Given the description of an element on the screen output the (x, y) to click on. 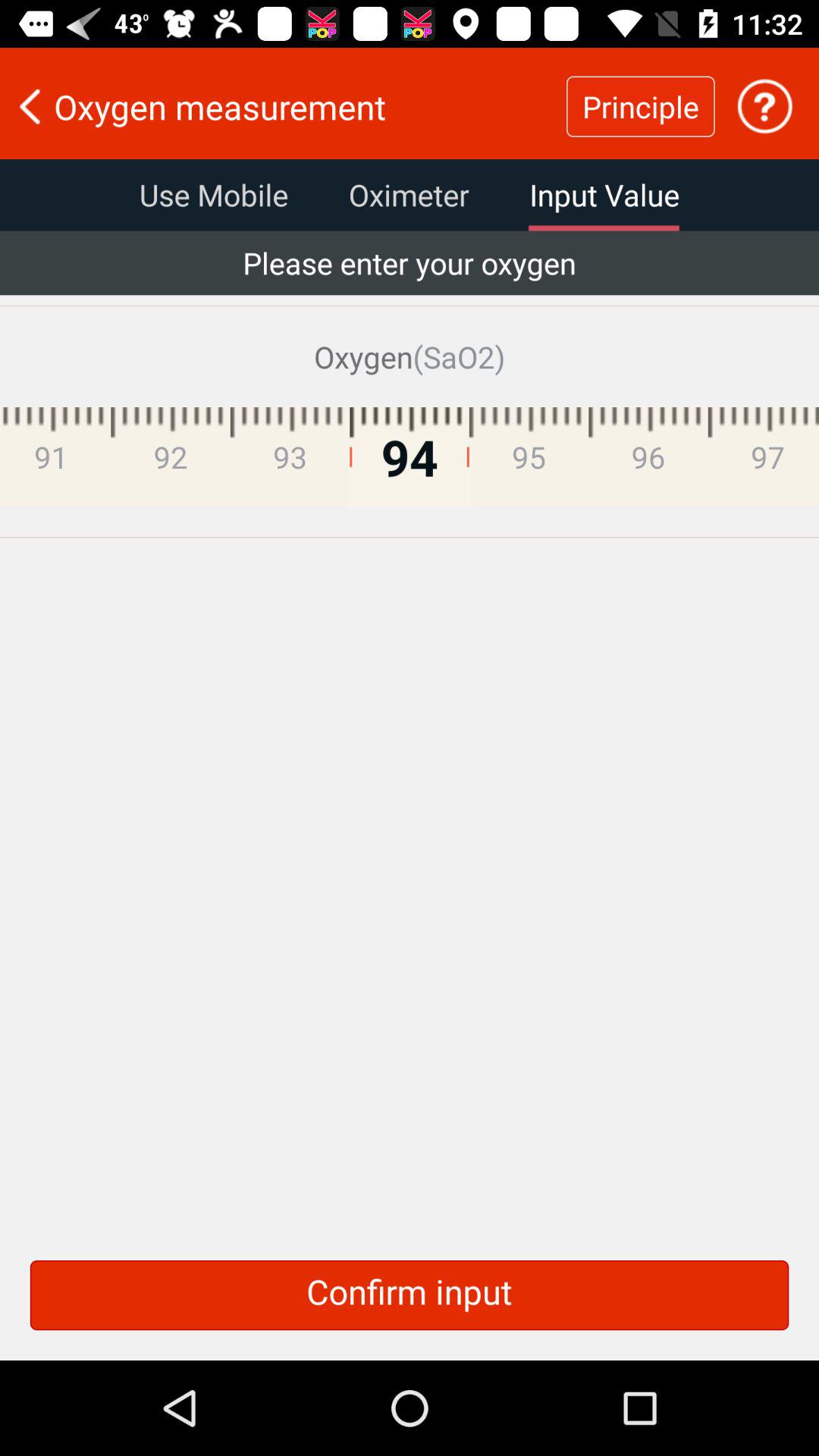
choose item next to principle item (764, 106)
